Given the description of an element on the screen output the (x, y) to click on. 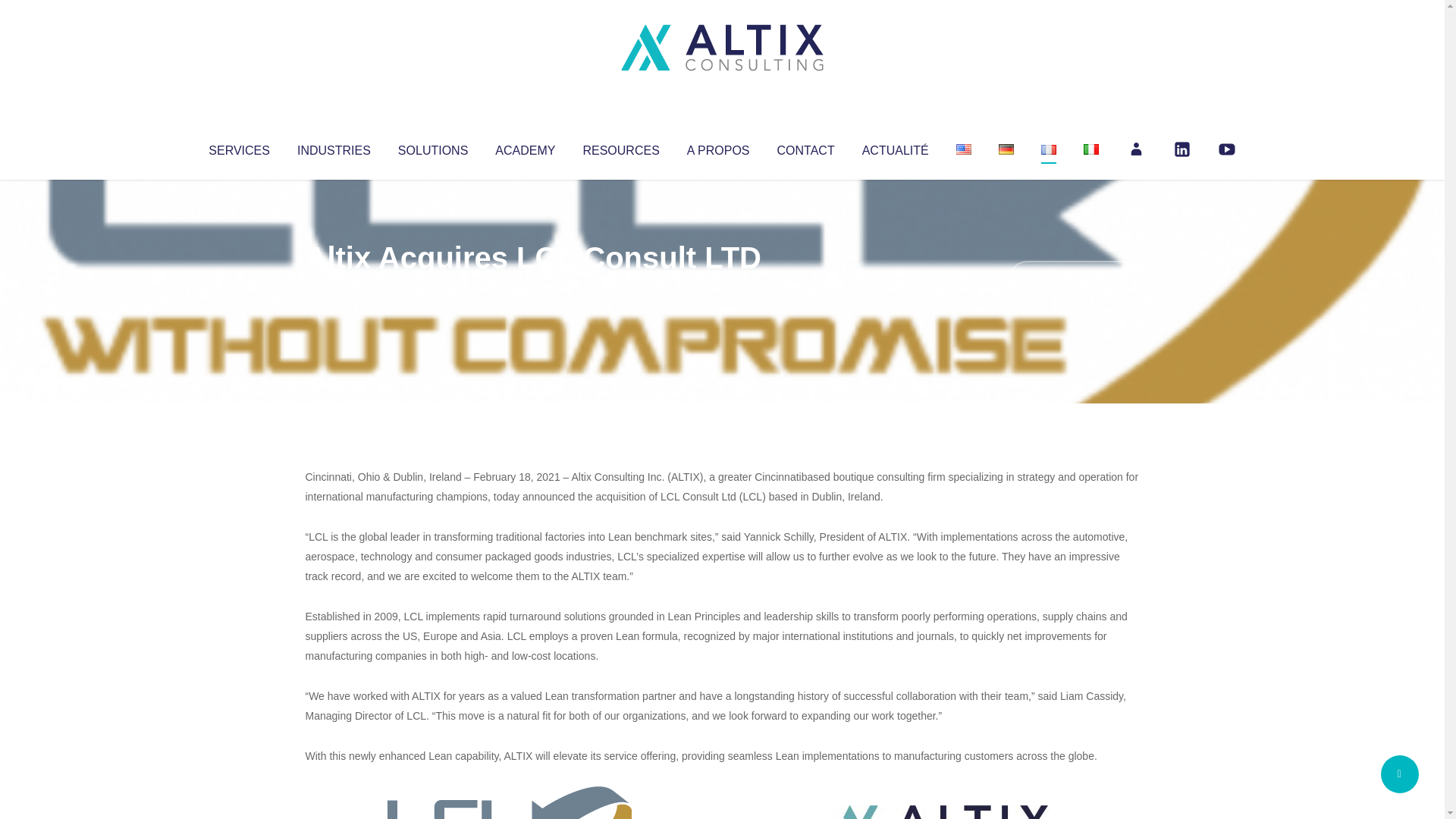
No Comments (1073, 278)
SERVICES (238, 146)
SOLUTIONS (432, 146)
ACADEMY (524, 146)
Articles par Altix (333, 287)
INDUSTRIES (334, 146)
RESOURCES (620, 146)
Altix (333, 287)
A PROPOS (718, 146)
Uncategorized (530, 287)
